Given the description of an element on the screen output the (x, y) to click on. 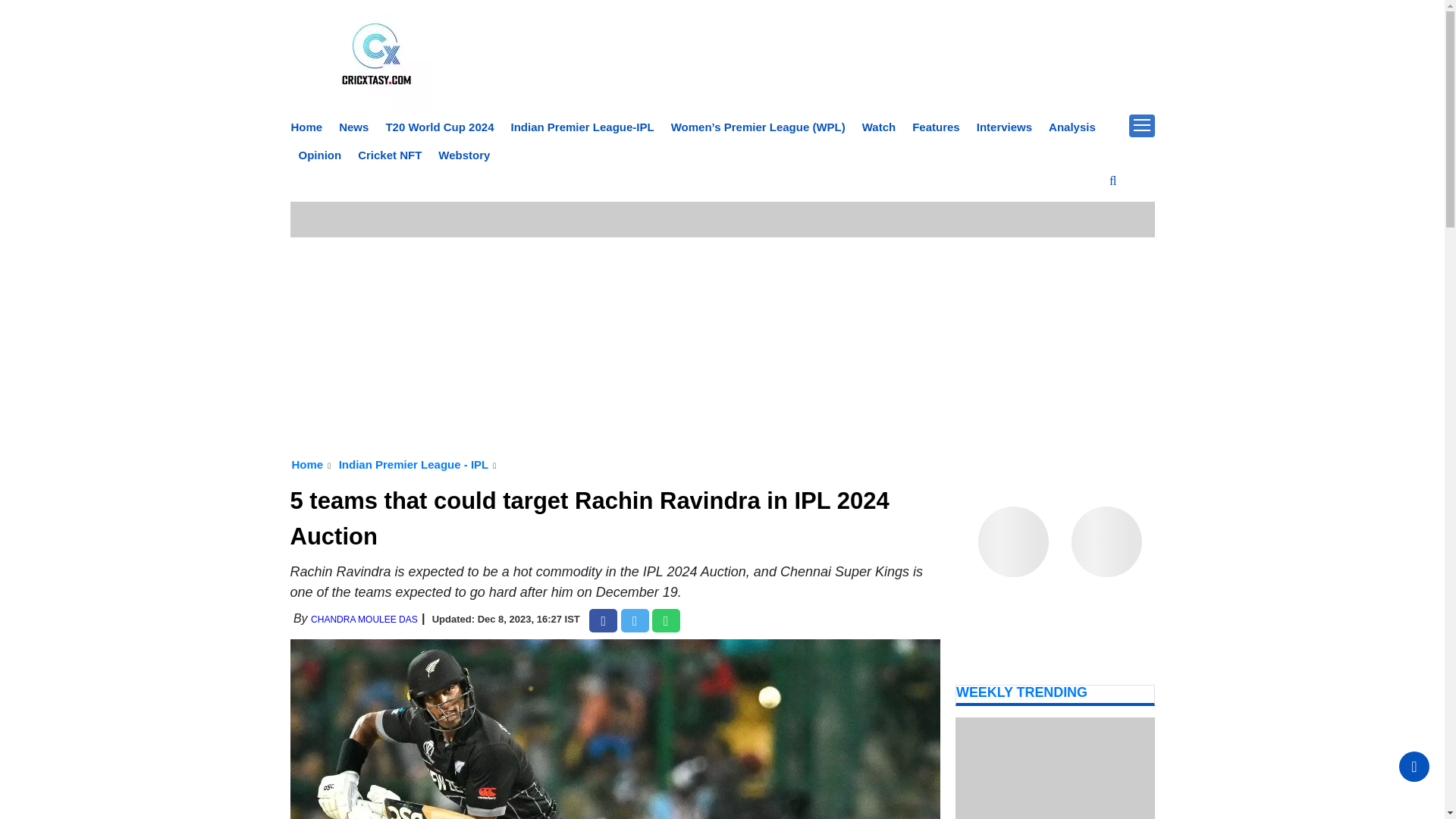
CHANDRA MOULEE DAS (364, 619)
Interviews (1004, 126)
Indian Premier League-IPL (582, 126)
Cricket NFT (390, 154)
Webstory (463, 154)
Watch (878, 126)
Indian Premier League - IPL (414, 463)
Home (307, 126)
Analysis (1072, 126)
Features (935, 126)
